Given the description of an element on the screen output the (x, y) to click on. 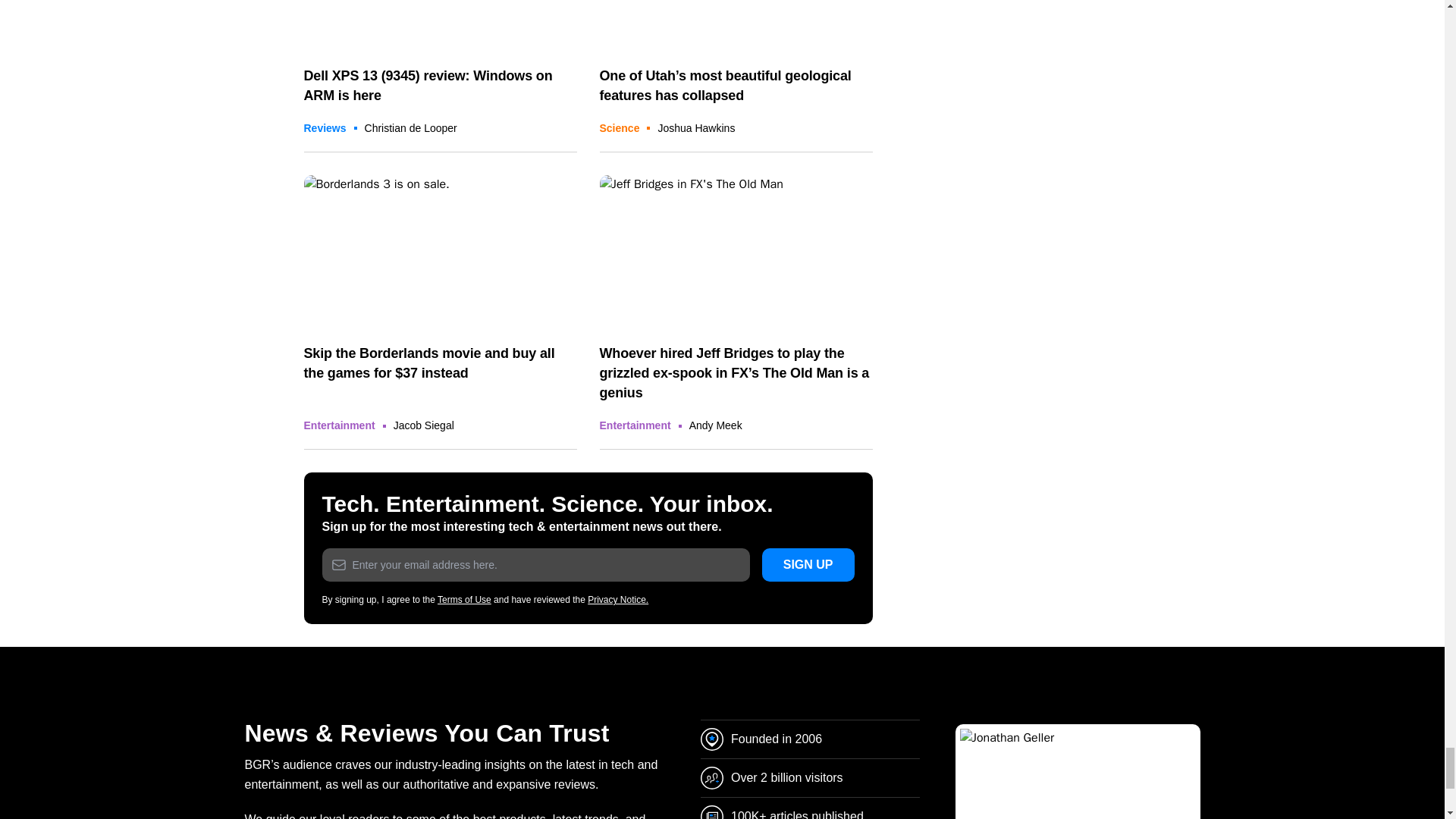
double arch (735, 25)
Posts by Joshua Hawkins (696, 128)
Borderlands games (439, 252)
Posts by Christian de Looper (411, 128)
